Given the description of an element on the screen output the (x, y) to click on. 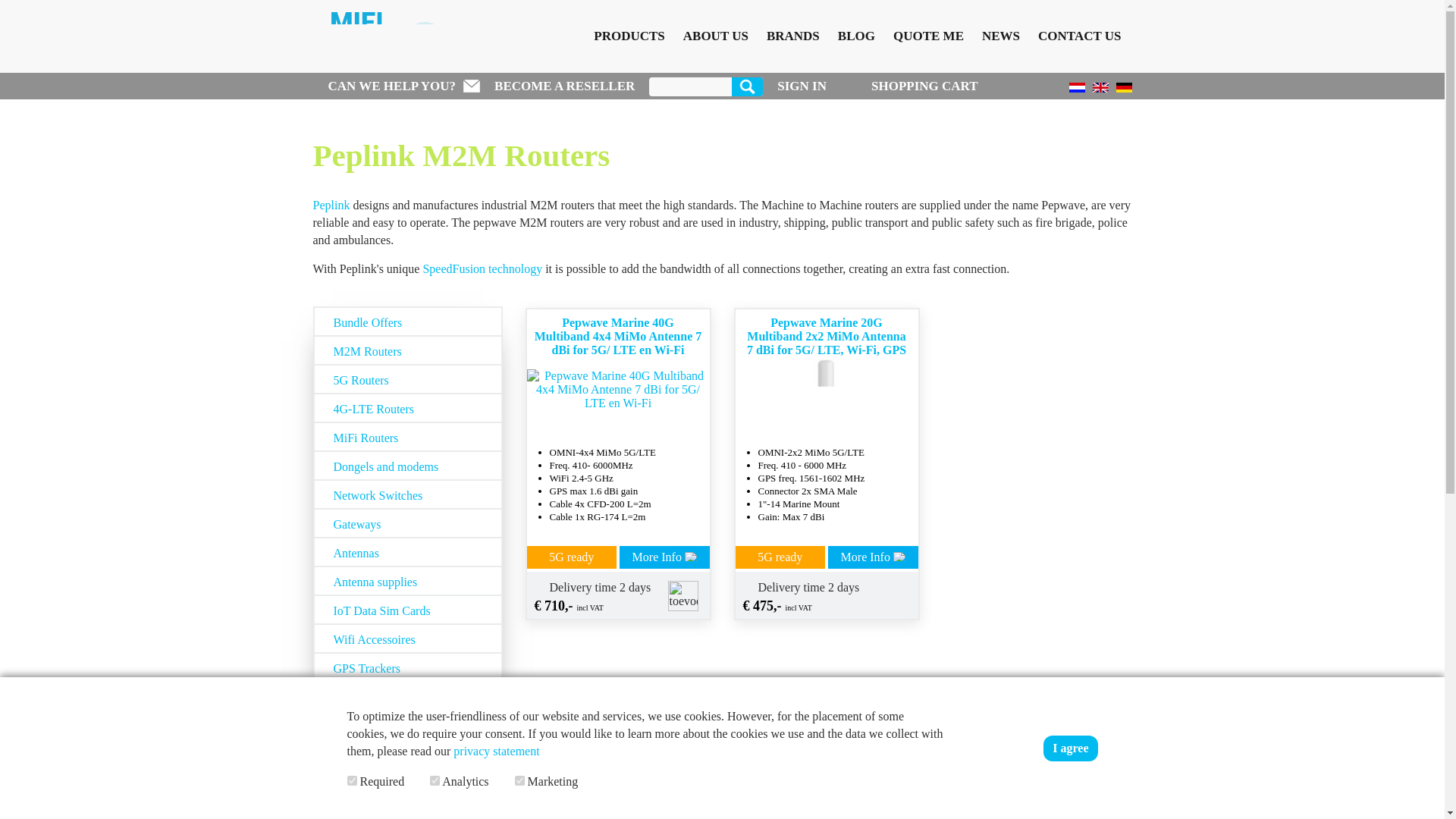
ABOUT US (716, 36)
Open box (407, 695)
Bundle Offers (407, 321)
SIGN IN (802, 85)
M2M Routers (407, 349)
SD flash memory cards (407, 725)
CAN WE HELP YOU? (403, 85)
on (434, 780)
Dongels and modems (407, 465)
IoT Data Sim Cards (407, 609)
5G Routers (407, 378)
Antennas (407, 552)
SpeedFusion technology (481, 268)
Wifi Accessoires (407, 638)
PRODUCTS (628, 36)
